Given the description of an element on the screen output the (x, y) to click on. 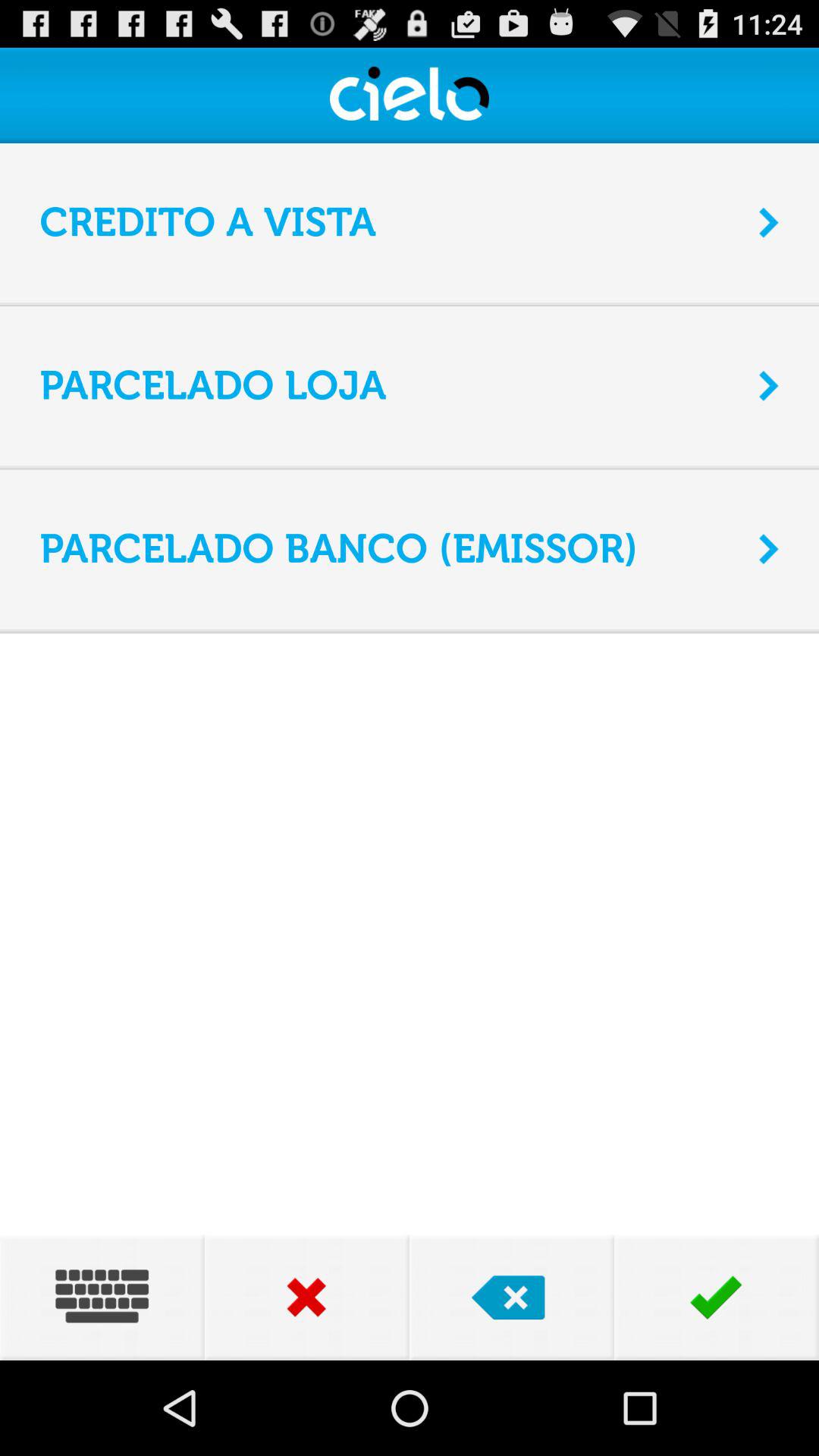
press app above the parcelado banco (emissor) icon (409, 469)
